Given the description of an element on the screen output the (x, y) to click on. 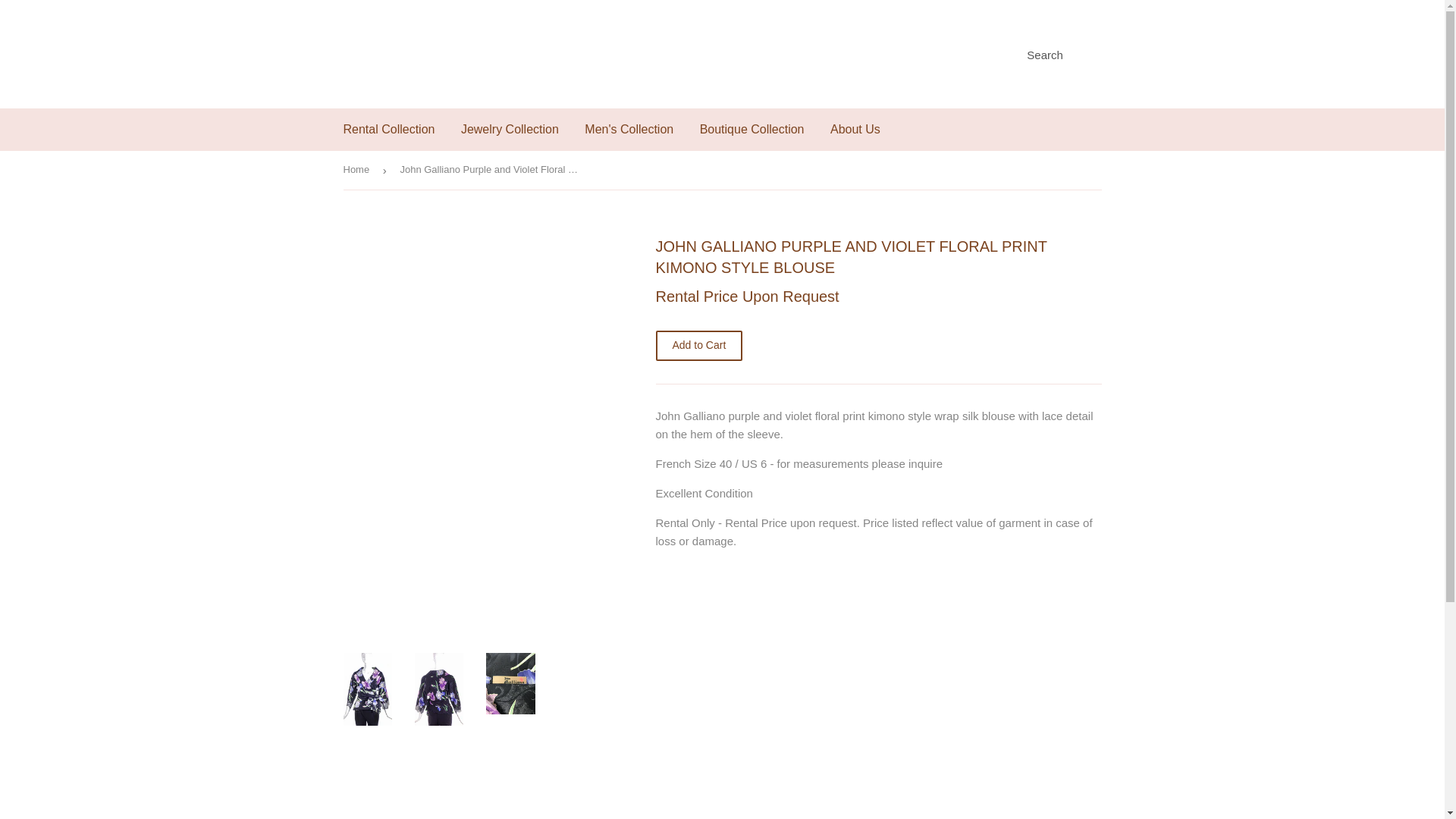
Boutique Collection (751, 129)
Add to Cart (698, 345)
Rental Collection (388, 129)
Jewelry Collection (509, 129)
Men's Collection (628, 129)
About Us (854, 129)
Search (1039, 55)
